Given the description of an element on the screen output the (x, y) to click on. 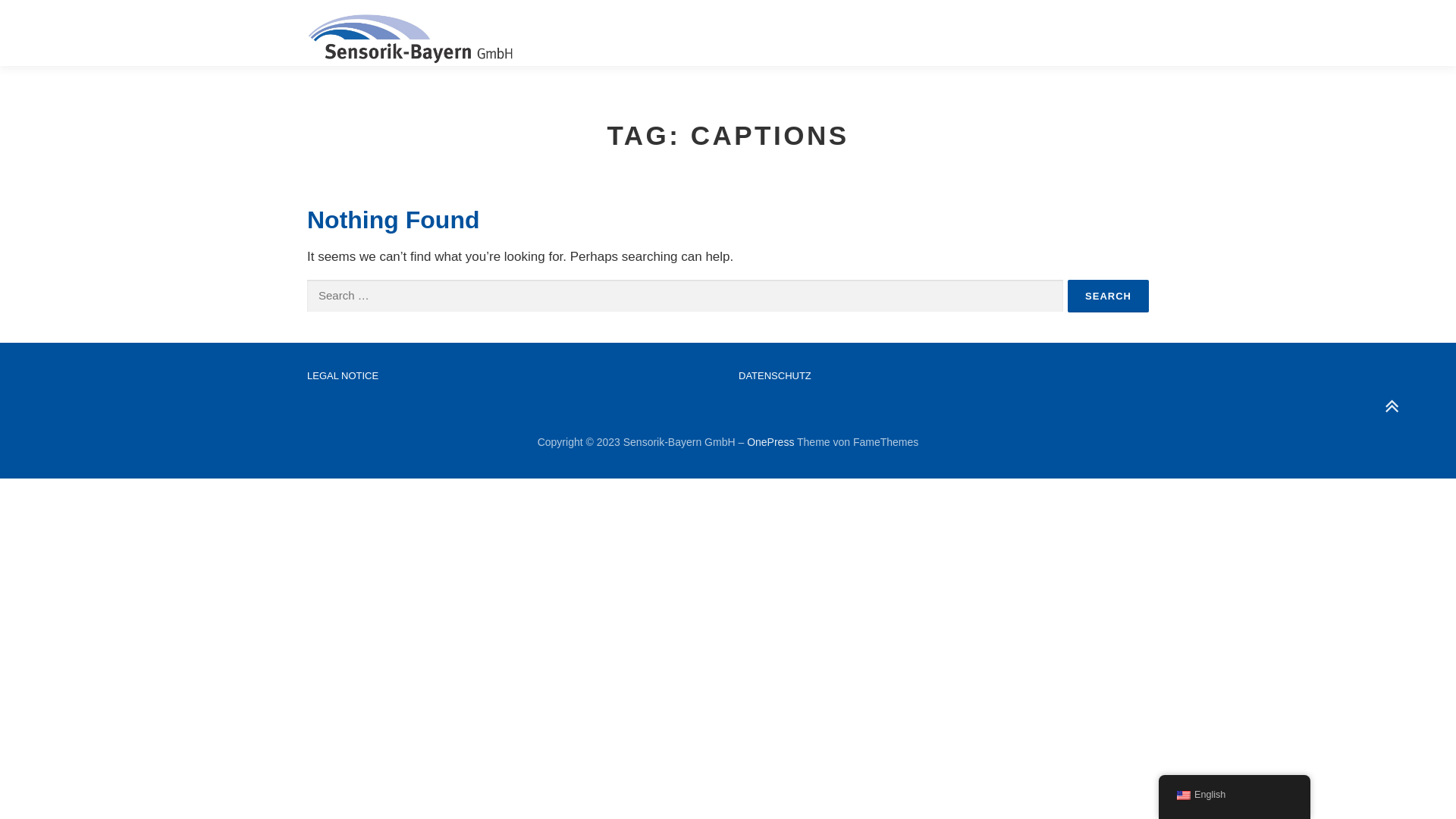
LEGAL NOTICE Element type: text (342, 375)
Nach Oben Element type: hover (1383, 399)
DATENSCHUTZ Element type: text (774, 375)
English Element type: text (1234, 794)
OnePress Element type: text (769, 442)
Search Element type: text (1107, 295)
English Element type: hover (1183, 795)
